Given the description of an element on the screen output the (x, y) to click on. 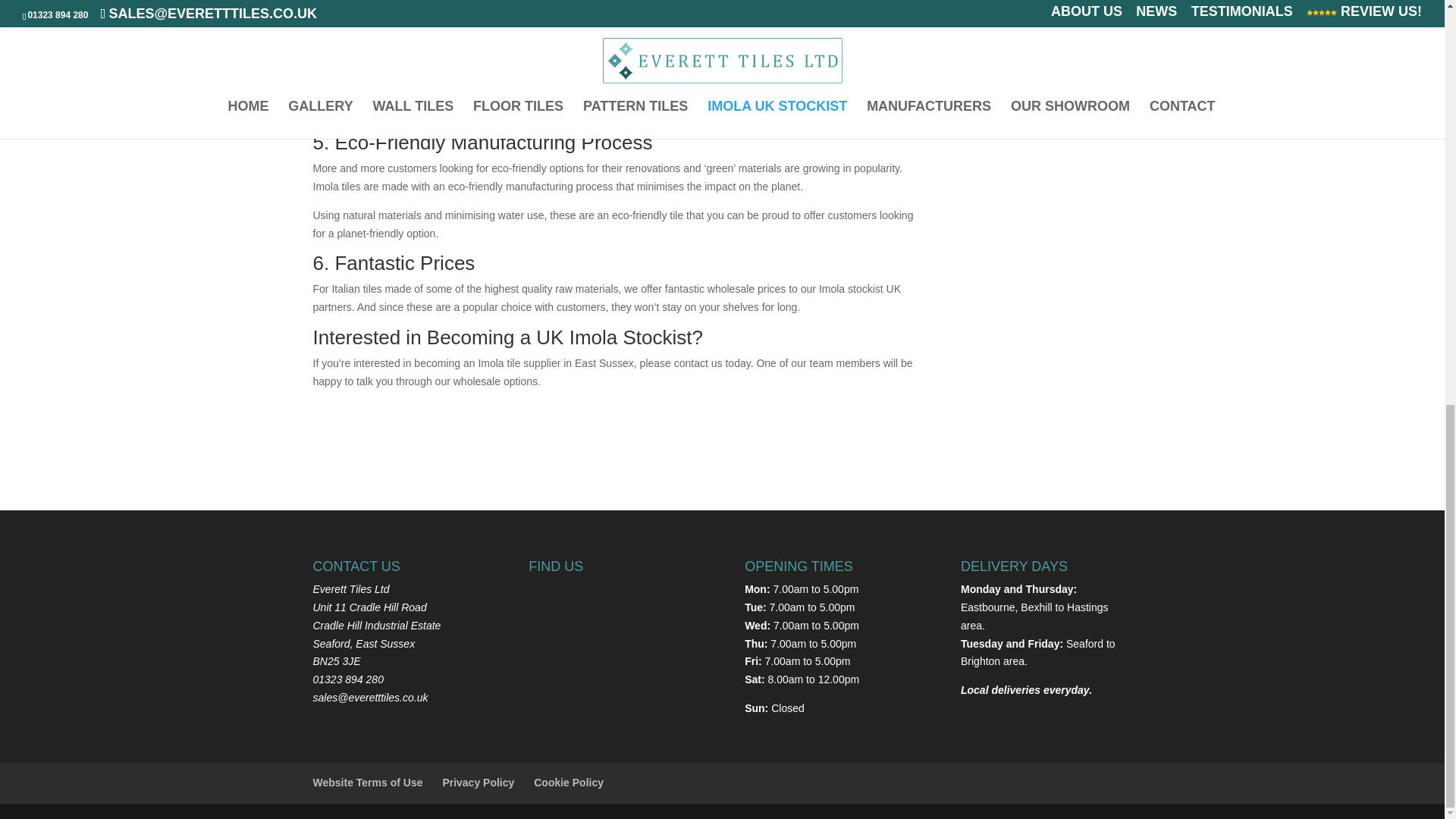
Privacy Policy (477, 782)
Cookie Policy (569, 782)
Website Terms of Use (367, 782)
01323 894 280 (347, 679)
